Given the description of an element on the screen output the (x, y) to click on. 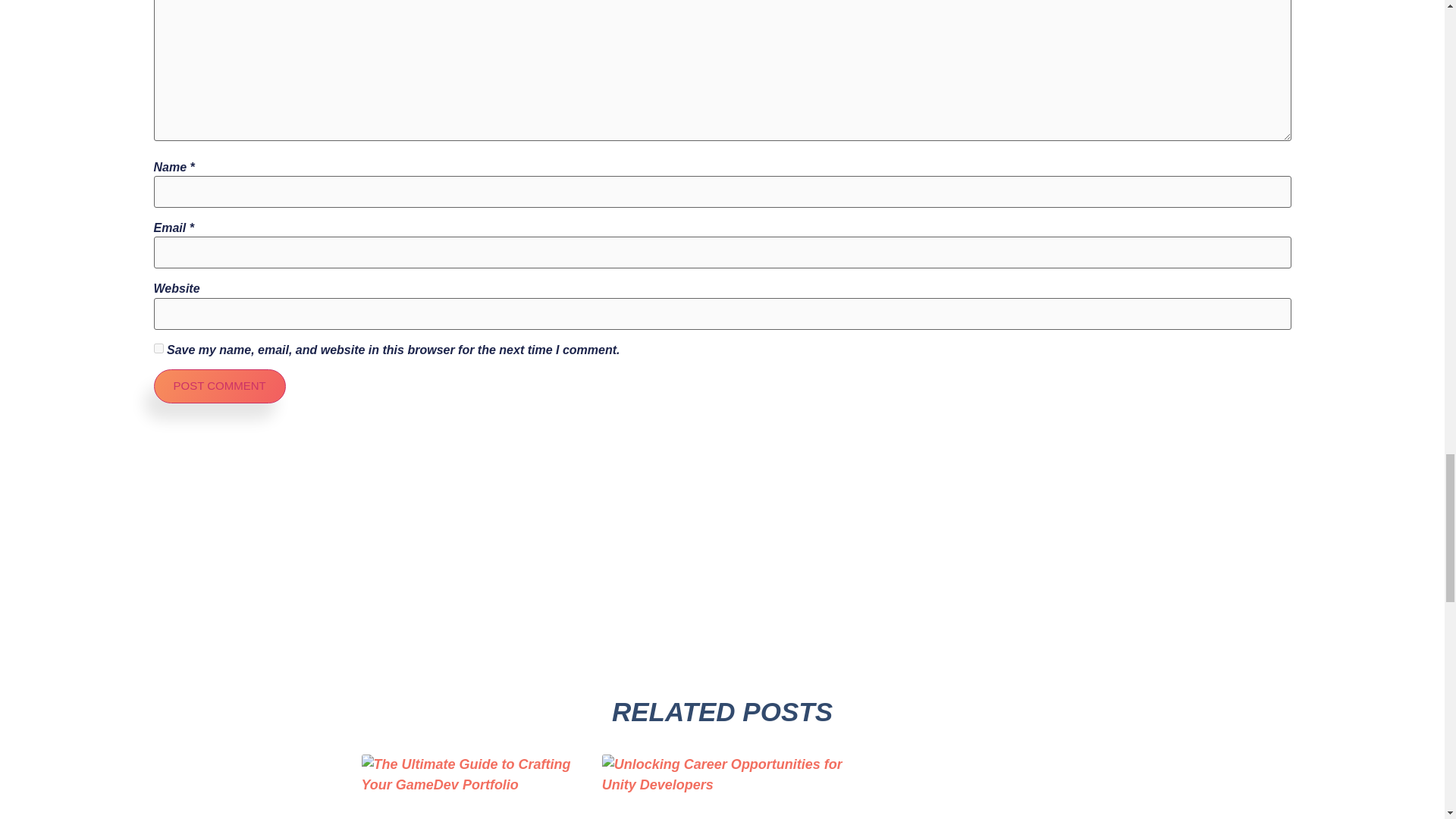
yes (157, 347)
Post Comment (218, 386)
Post Comment (218, 386)
